Given the description of an element on the screen output the (x, y) to click on. 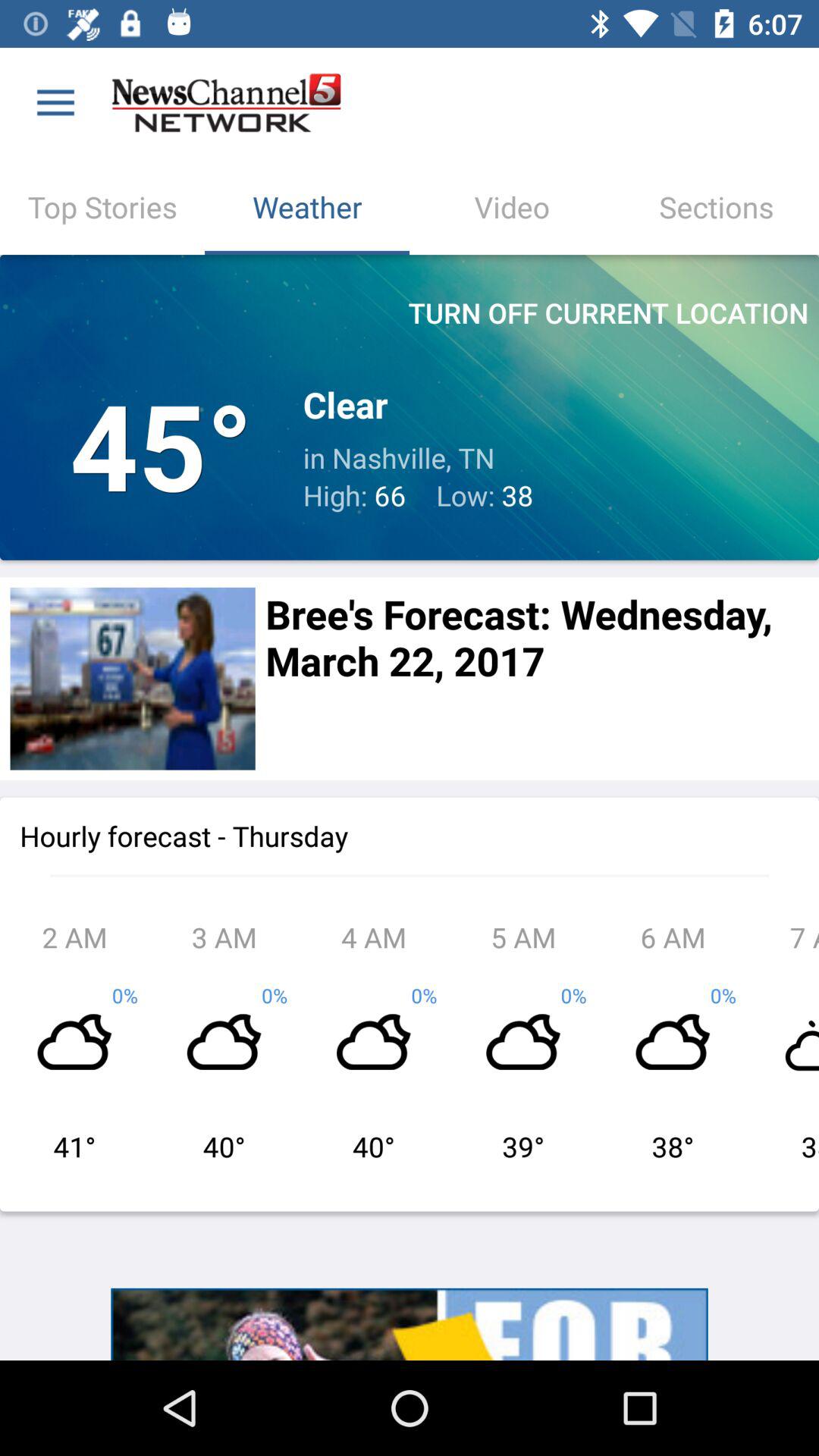
image screen (132, 678)
